Given the description of an element on the screen output the (x, y) to click on. 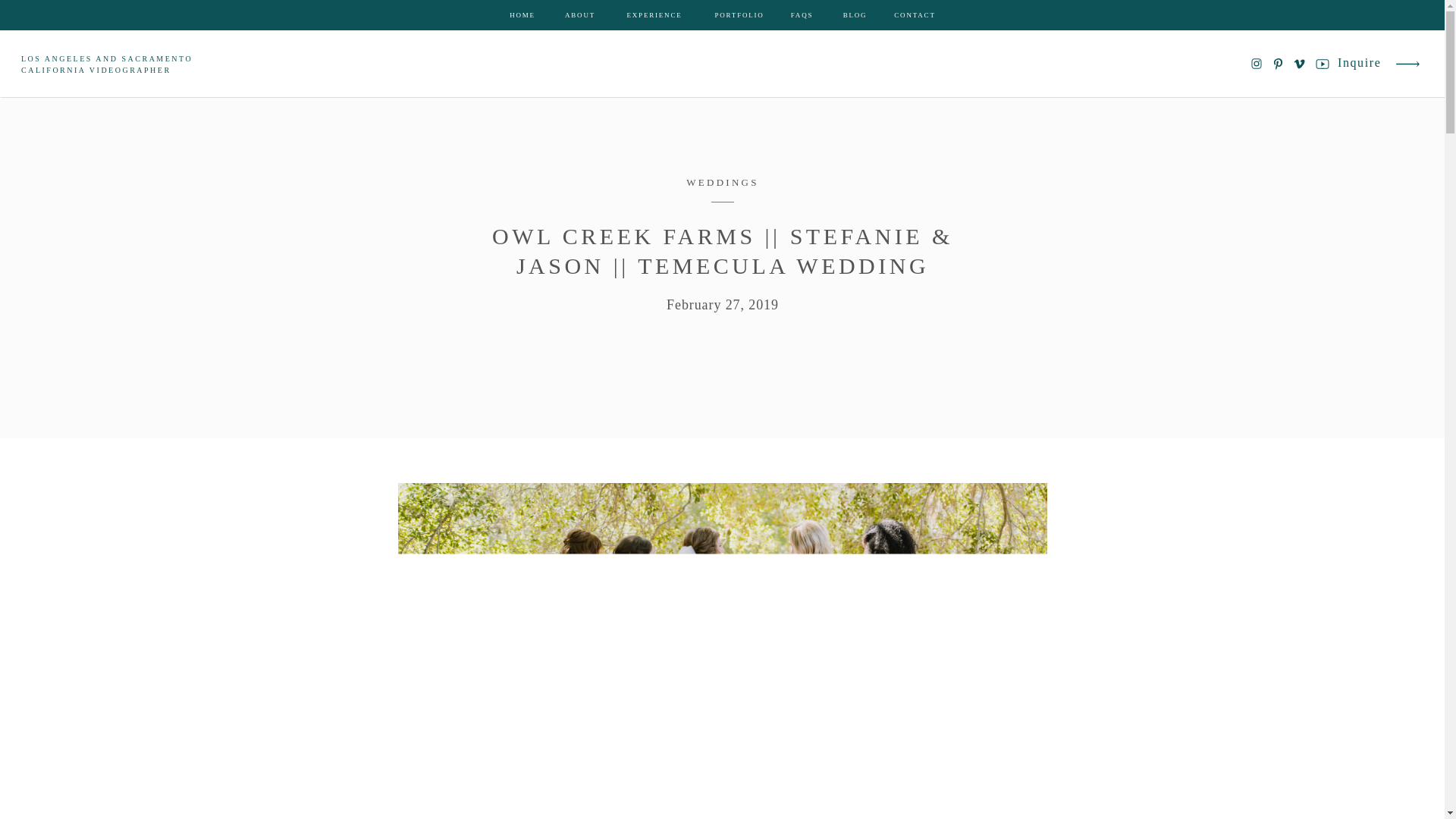
arrow (1407, 63)
EXPERIENCE (653, 15)
HOME (521, 15)
FAQS (801, 15)
arrow (1407, 63)
PORTFOLIO (738, 15)
Inquire  (1360, 64)
CONTACT (914, 15)
ABOUT (579, 15)
WEDDINGS (721, 182)
BLOG (855, 15)
